Given the description of an element on the screen output the (x, y) to click on. 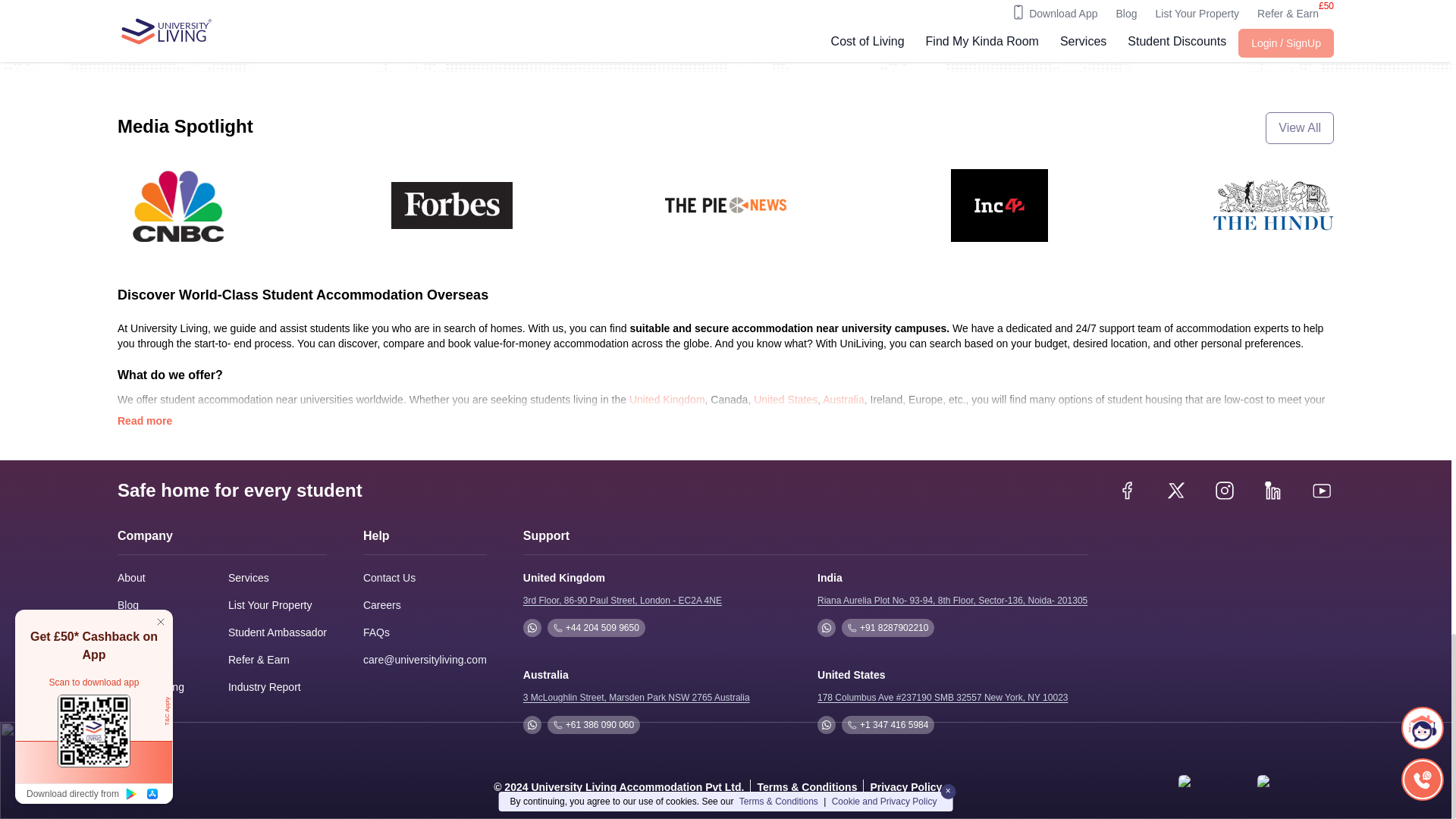
Blog (127, 604)
Careers (381, 604)
Student Ambassador (277, 631)
Industry Report (264, 686)
Scholarship (145, 631)
About (131, 577)
FAQs (376, 632)
Services (248, 577)
Contact Us (388, 577)
List Your Property (270, 604)
Cost Of Living (150, 686)
Community (144, 659)
